Given the description of an element on the screen output the (x, y) to click on. 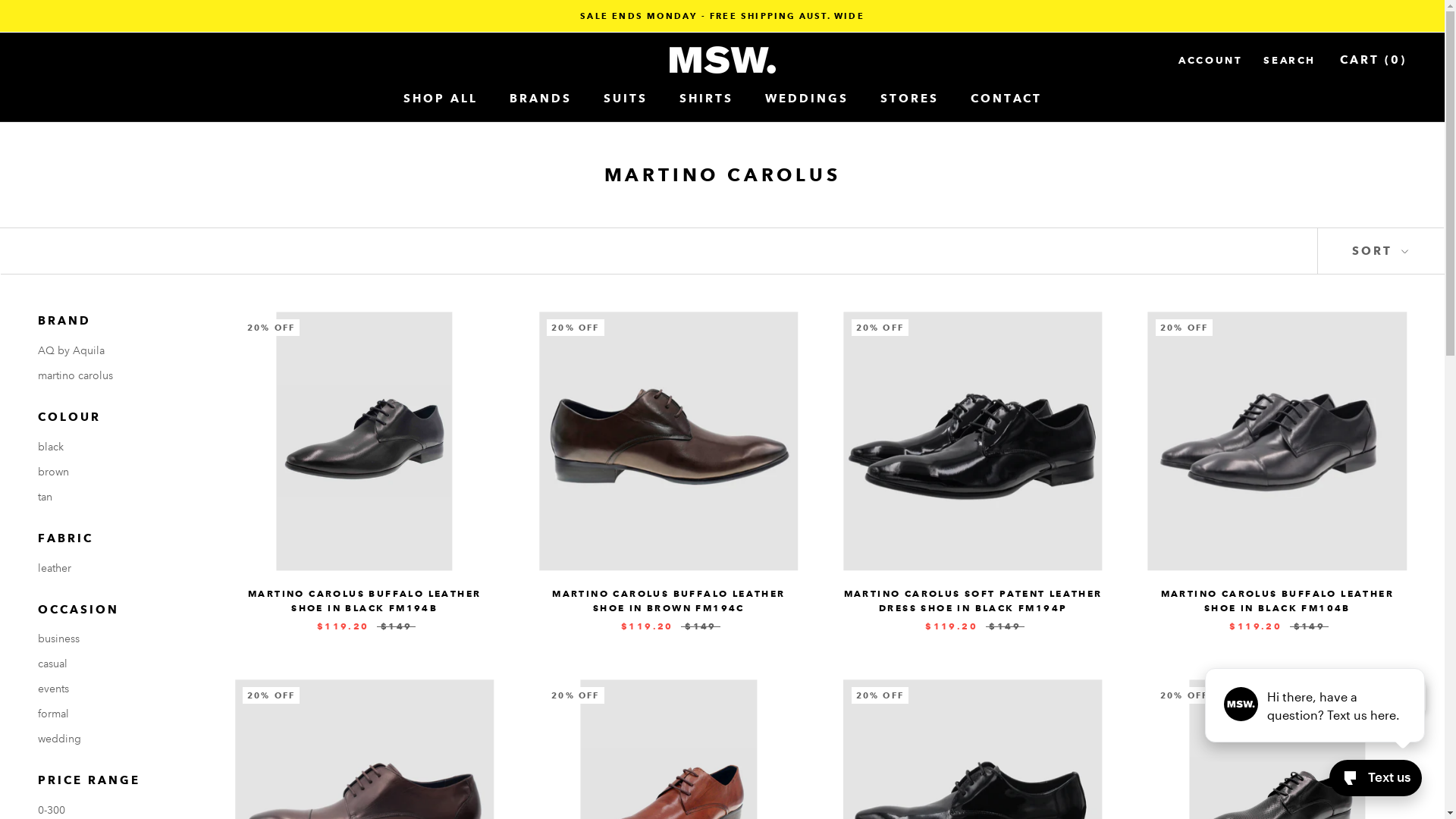
BRAND Element type: text (113, 320)
formal Element type: text (113, 713)
casual Element type: text (113, 663)
SHIRTS
SHIRTS Element type: text (706, 98)
ACCOUNT Element type: text (1210, 60)
AQ by Aquila Element type: text (113, 350)
SUITS
SUITS Element type: text (625, 98)
podium webchat widget prompt Element type: hover (1315, 705)
leather Element type: text (113, 568)
black Element type: text (113, 447)
OCCASION Element type: text (113, 609)
0-300 Element type: text (113, 810)
martino carolus Element type: text (113, 375)
business Element type: text (113, 638)
brown Element type: text (113, 472)
WEDDINGS
WEDDINGS Element type: text (805, 98)
CONTACT
CONTACT Element type: text (1005, 98)
FABRIC Element type: text (113, 538)
events Element type: text (113, 688)
SORT Element type: text (1380, 251)
wedding Element type: text (113, 738)
MARTINO CAROLUS BUFFALO LEATHER SHOE IN BLACK FM194B Element type: text (363, 600)
BRANDS
BRANDS Element type: text (540, 98)
STORES
STORES Element type: text (908, 98)
MARTINO CAROLUS BUFFALO LEATHER SHOE IN BLACK FM104B Element type: text (1277, 600)
CART (0) Element type: text (1372, 59)
tan Element type: text (113, 497)
MARTINO CAROLUS BUFFALO LEATHER SHOE IN BROWN FM194C Element type: text (668, 600)
SALE ENDS MONDAY - FREE SHIPPING AUST. WIDE Element type: text (722, 15)
COLOUR Element type: text (113, 416)
SHOP ALL
SHOP ALL Element type: text (440, 98)
PRICE RANGE Element type: text (113, 780)
SEARCH Element type: text (1289, 60)
